Given the description of an element on the screen output the (x, y) to click on. 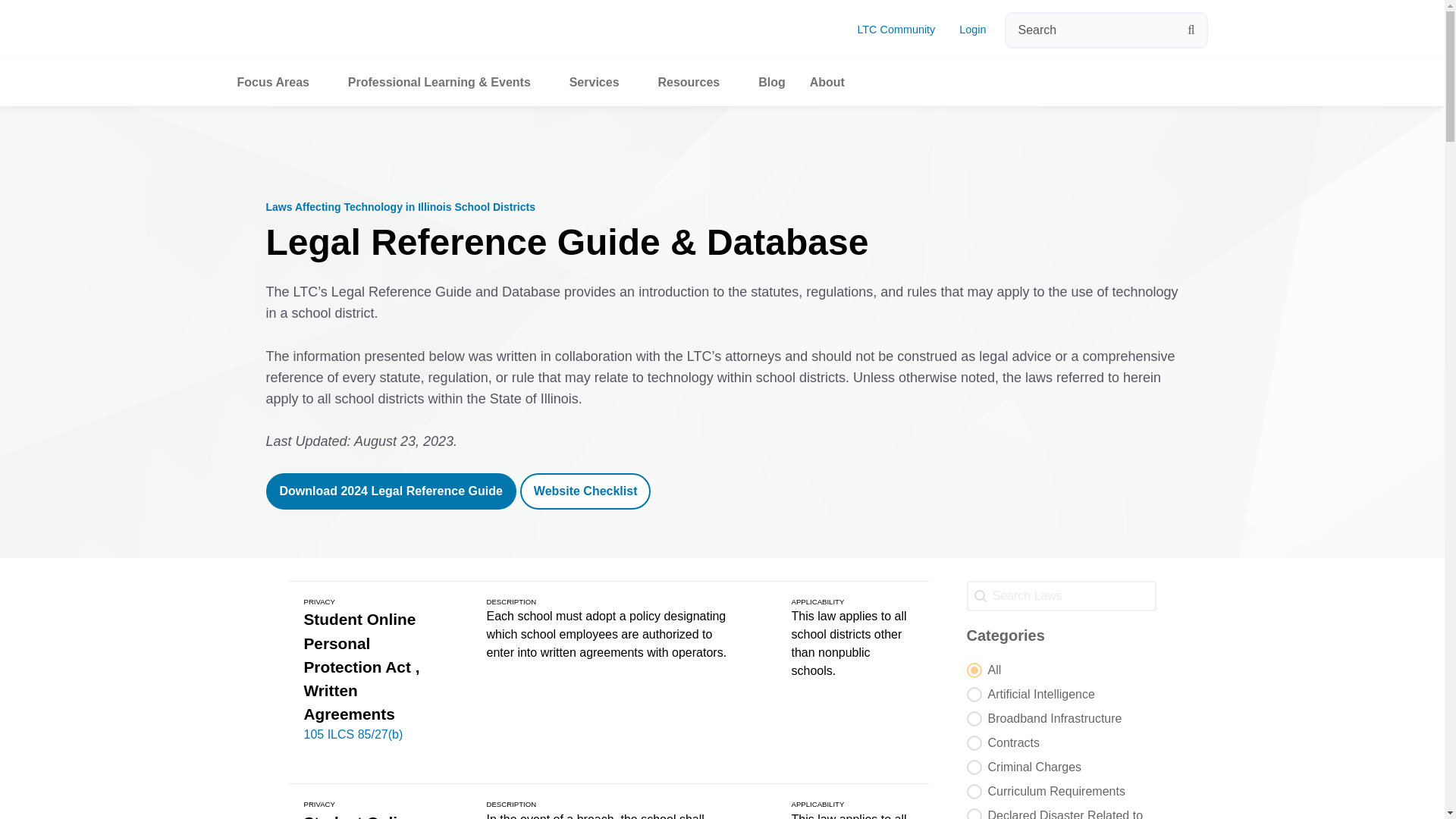
Focus Areas  (279, 82)
Services  (601, 82)
LTC Community (895, 29)
Login (972, 29)
